Given the description of an element on the screen output the (x, y) to click on. 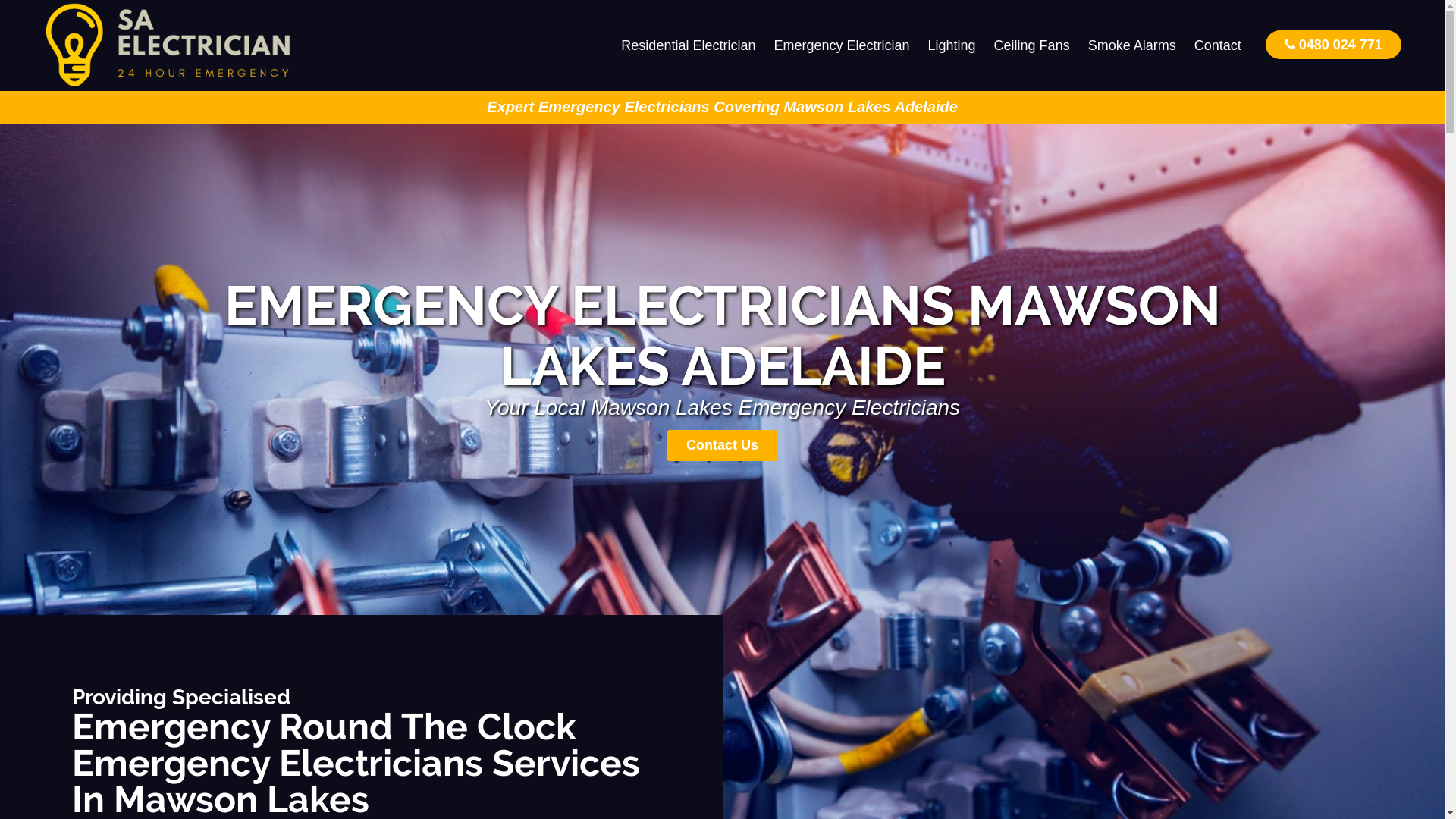
Residential Electrician Element type: text (687, 45)
Ceiling Fans Element type: text (1032, 45)
Lighting Element type: text (952, 45)
Smoke Alarms Element type: text (1132, 45)
Emergency Electrician Element type: text (841, 45)
0480 024 771 Element type: text (1333, 44)
Contact Us Element type: text (722, 445)
Contact Element type: text (1217, 45)
